Given the description of an element on the screen output the (x, y) to click on. 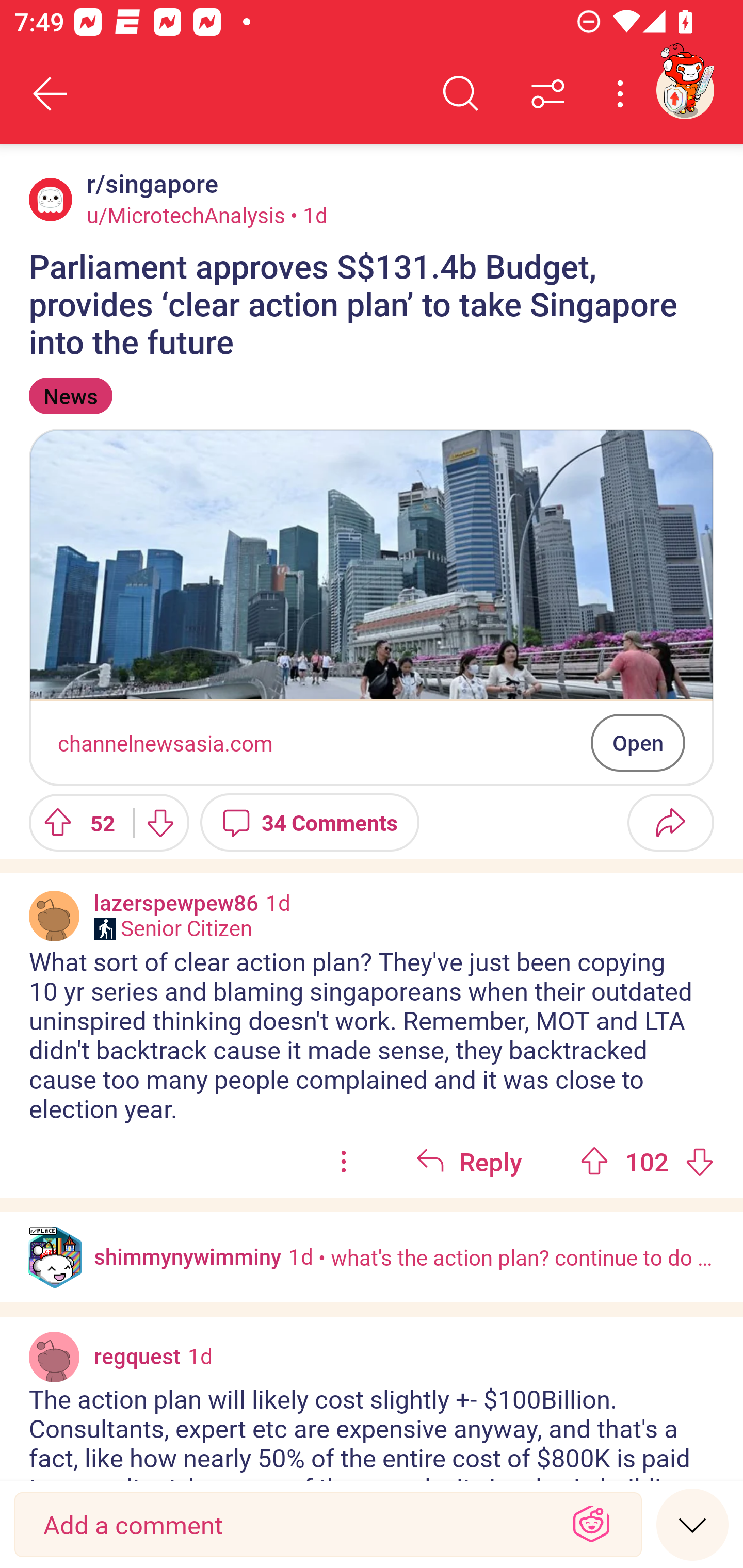
Back (50, 93)
TestAppium002 account (685, 90)
Search comments (460, 93)
Sort comments (547, 93)
More options (623, 93)
r/singapore (148, 183)
Avatar (50, 199)
News (70, 395)
Preview Image channelnewsasia.com Open (371, 606)
Open (637, 742)
Upvote 52 (73, 822)
Downvote (158, 822)
34 Comments (309, 822)
Share (670, 822)
Avatar (53, 915)
￼ Senior Citizen (172, 927)
options (343, 1161)
Reply (469, 1161)
Upvote 102 102 votes Downvote (647, 1161)
Avatar (53, 1356)
Speed read (692, 1524)
Add a comment (291, 1524)
Show Expressions (590, 1524)
